Given the description of an element on the screen output the (x, y) to click on. 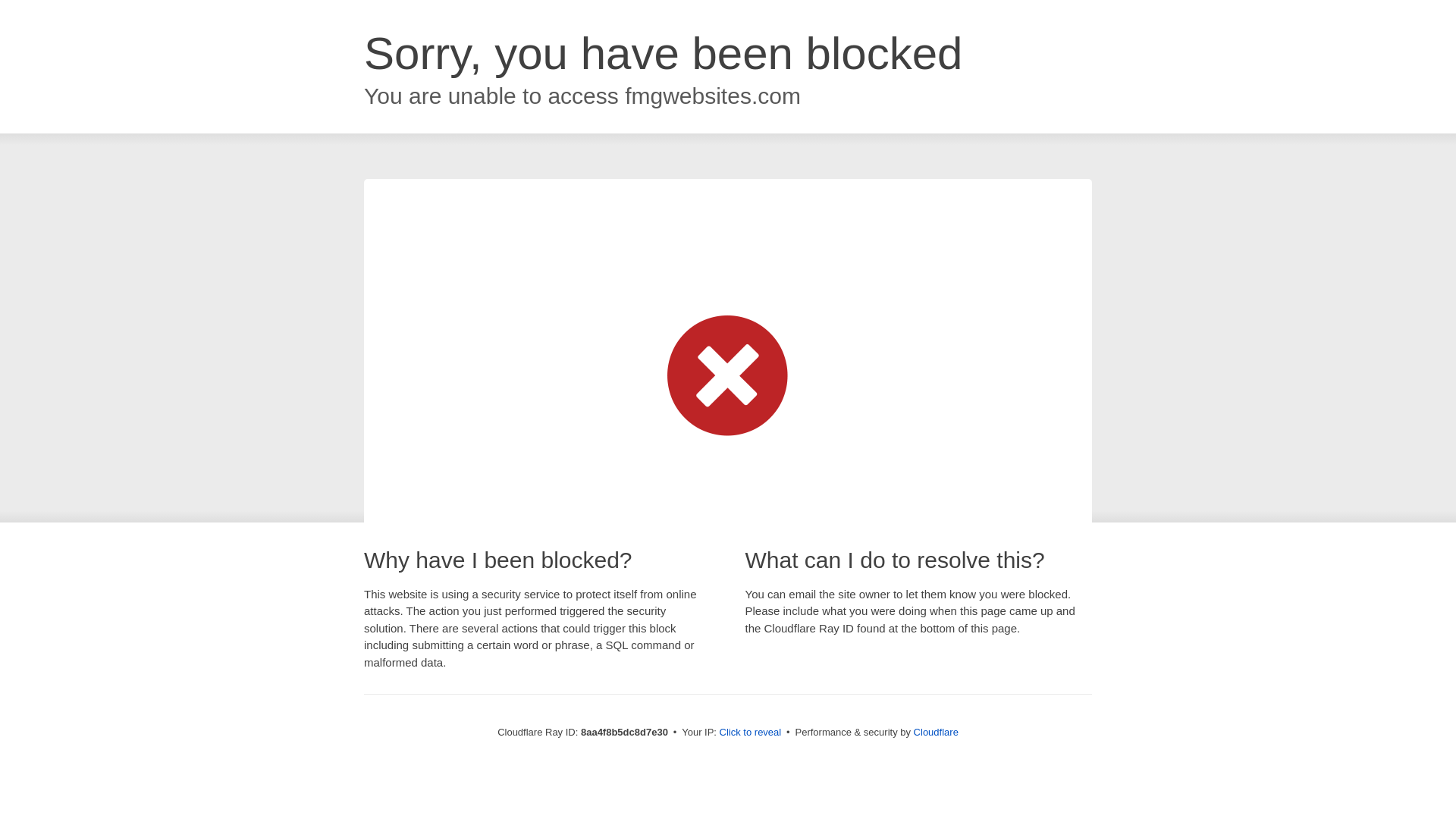
Click to reveal (750, 732)
Cloudflare (936, 731)
